Given the description of an element on the screen output the (x, y) to click on. 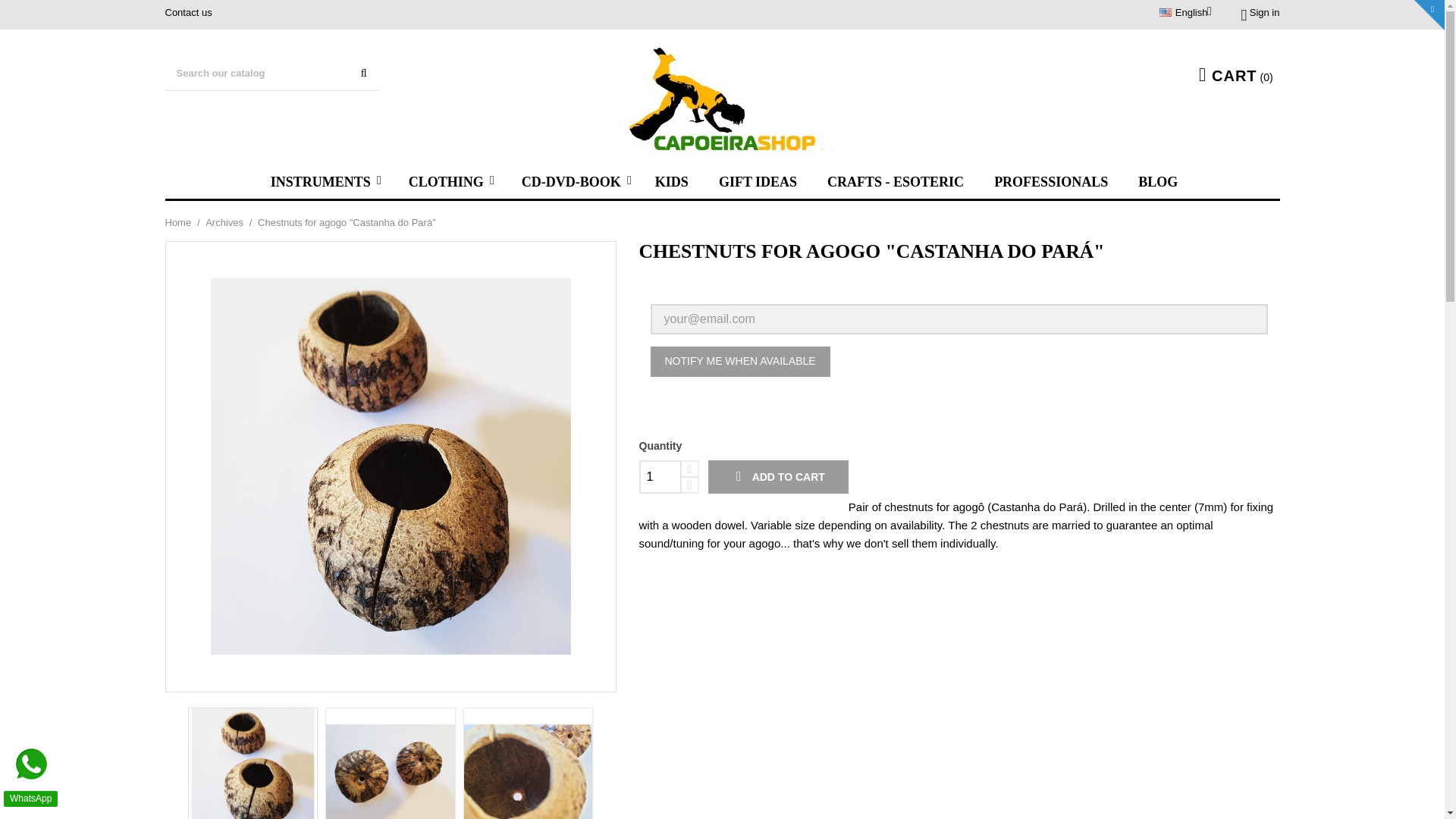
GIFT IDEAS (757, 183)
CLOTHING (446, 183)
BLOG (1157, 183)
1 (660, 476)
Contact us (188, 12)
PROFESSIONALS (1050, 183)
Log in to your customer account (1254, 12)
CRAFTS - ESOTERIC (895, 183)
KIDS (671, 183)
CD-DVD-BOOK (571, 183)
